Given the description of an element on the screen output the (x, y) to click on. 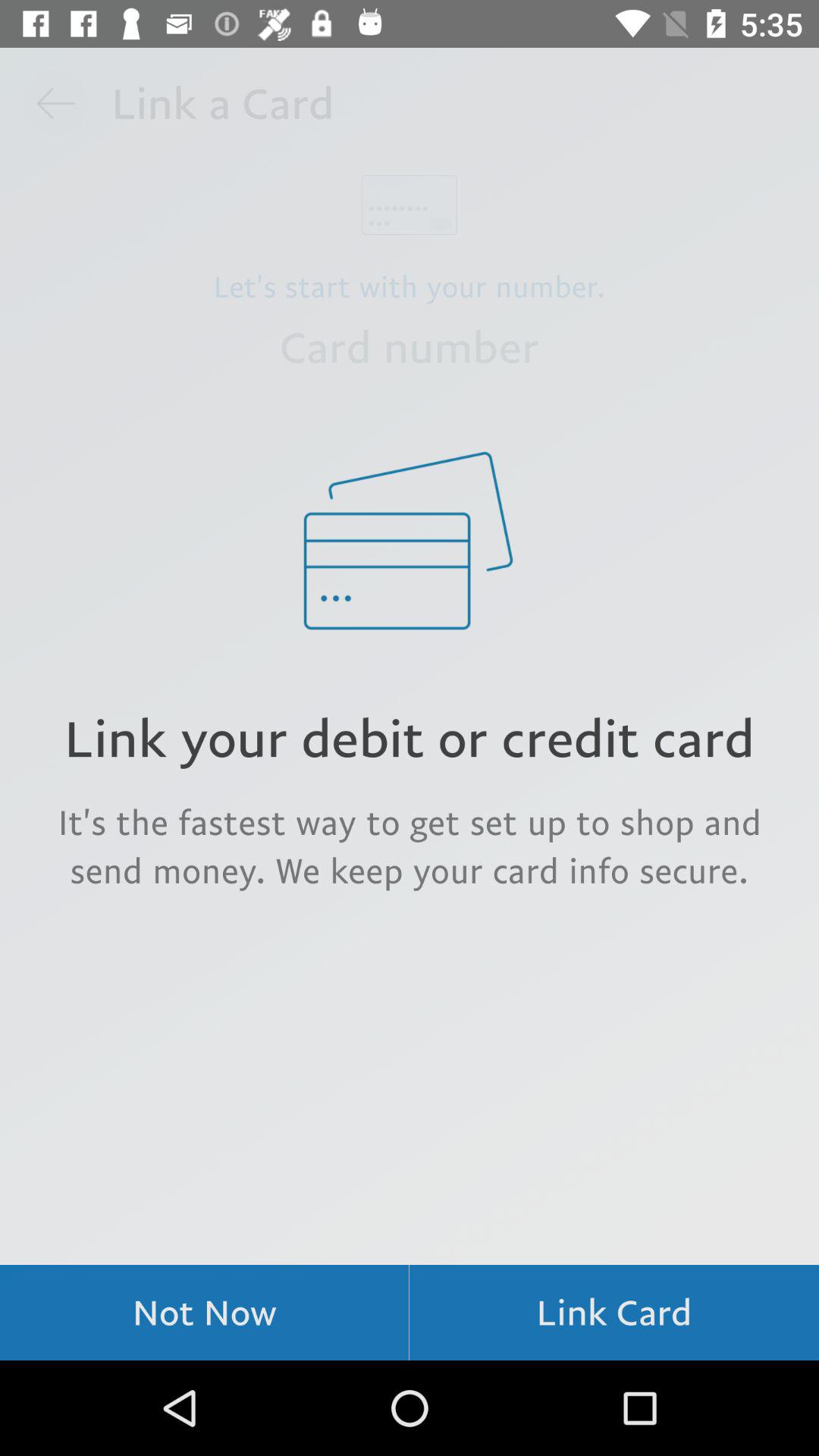
turn on icon below link your debit item (409, 845)
